Given the description of an element on the screen output the (x, y) to click on. 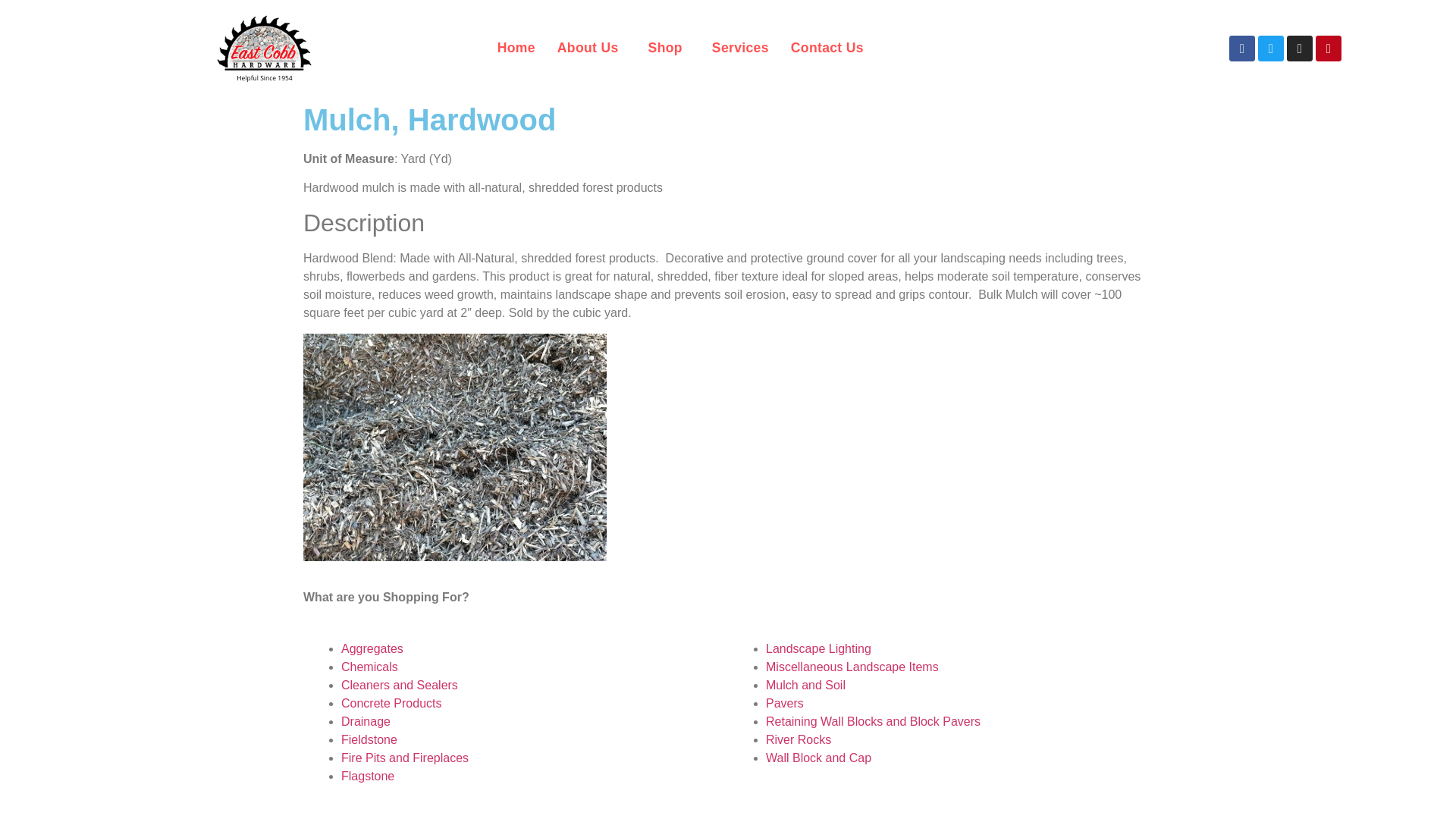
Flagstone (367, 775)
Retaining Wall Blocks and Block Pavers (872, 721)
Cleaners and Sealers (399, 684)
About Us (591, 48)
Aggregates (371, 648)
Wall Block and Cap (817, 757)
Pavers (784, 703)
Services (739, 48)
Chemicals (368, 666)
River Rocks (798, 739)
Home (516, 48)
Fieldstone (368, 739)
Contact Us (826, 48)
Shop (668, 48)
Mulch and Soil (805, 684)
